Given the description of an element on the screen output the (x, y) to click on. 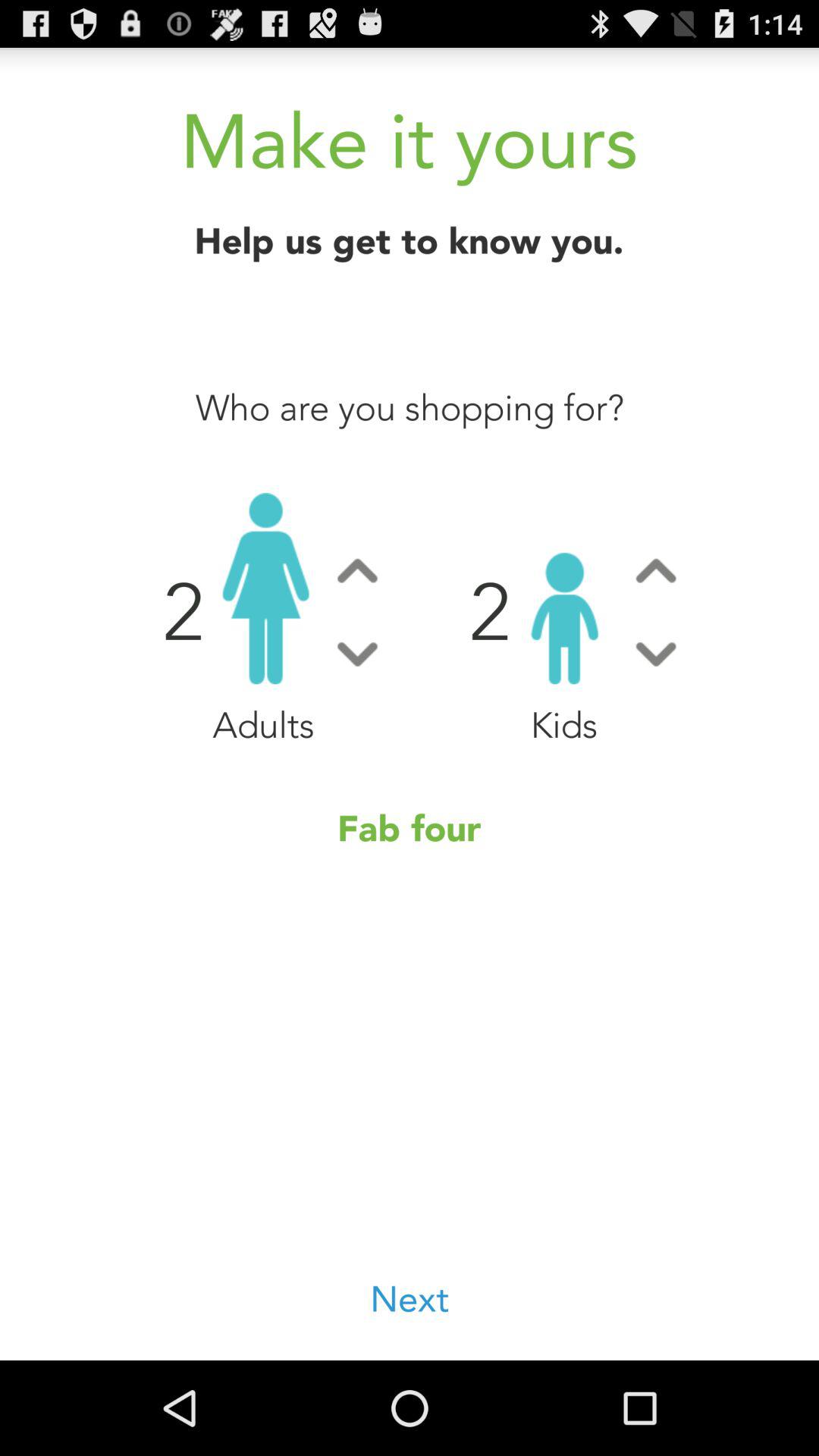
change the number of kids (655, 570)
